Given the description of an element on the screen output the (x, y) to click on. 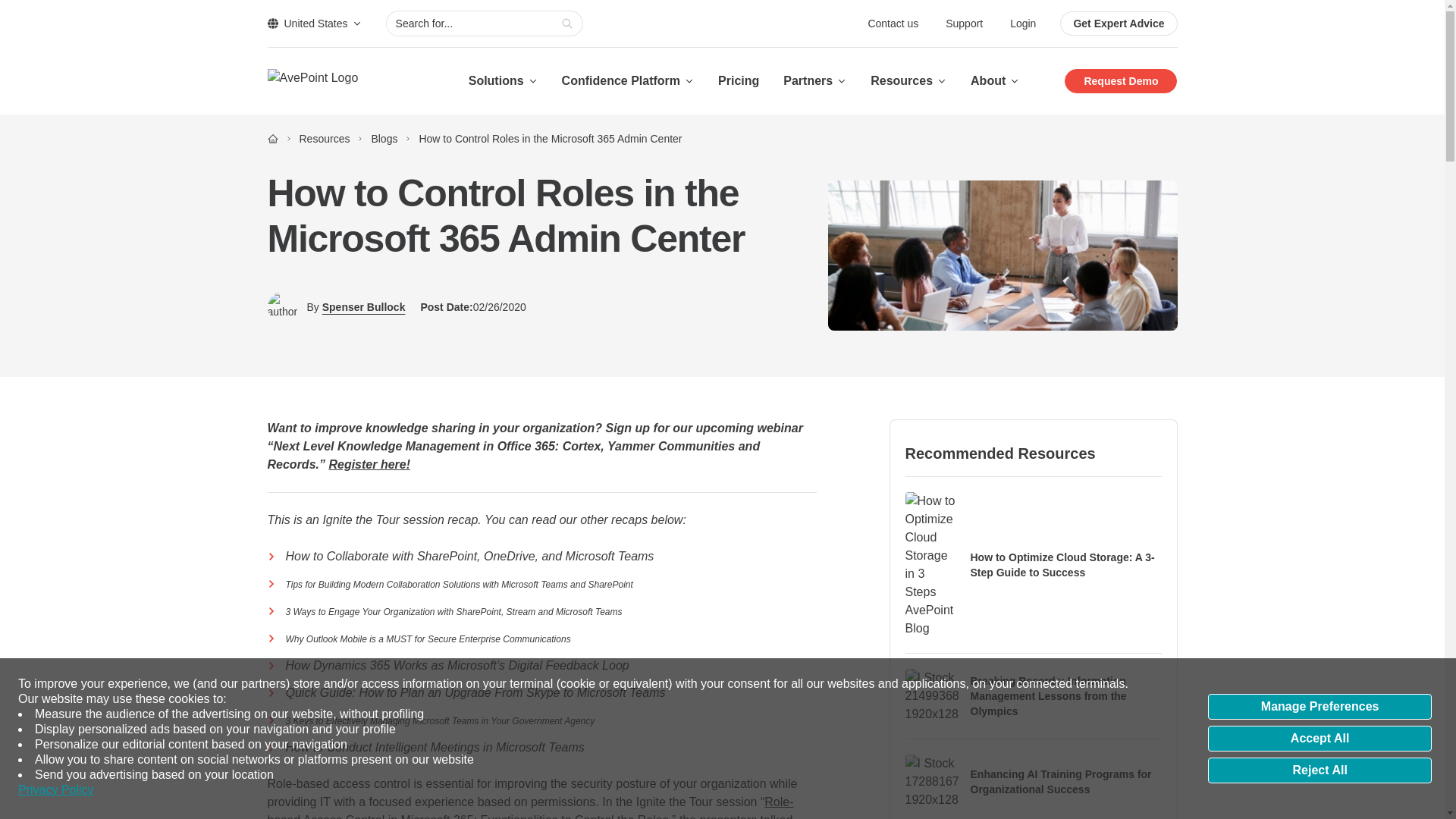
Support (964, 23)
Contact us (894, 23)
Search (566, 23)
United States (313, 23)
Confidence Platform (628, 80)
Reject All (1319, 769)
Privacy Policy (55, 789)
Accept All (1319, 738)
Login (1022, 23)
Manage Preferences (1319, 706)
